Given the description of an element on the screen output the (x, y) to click on. 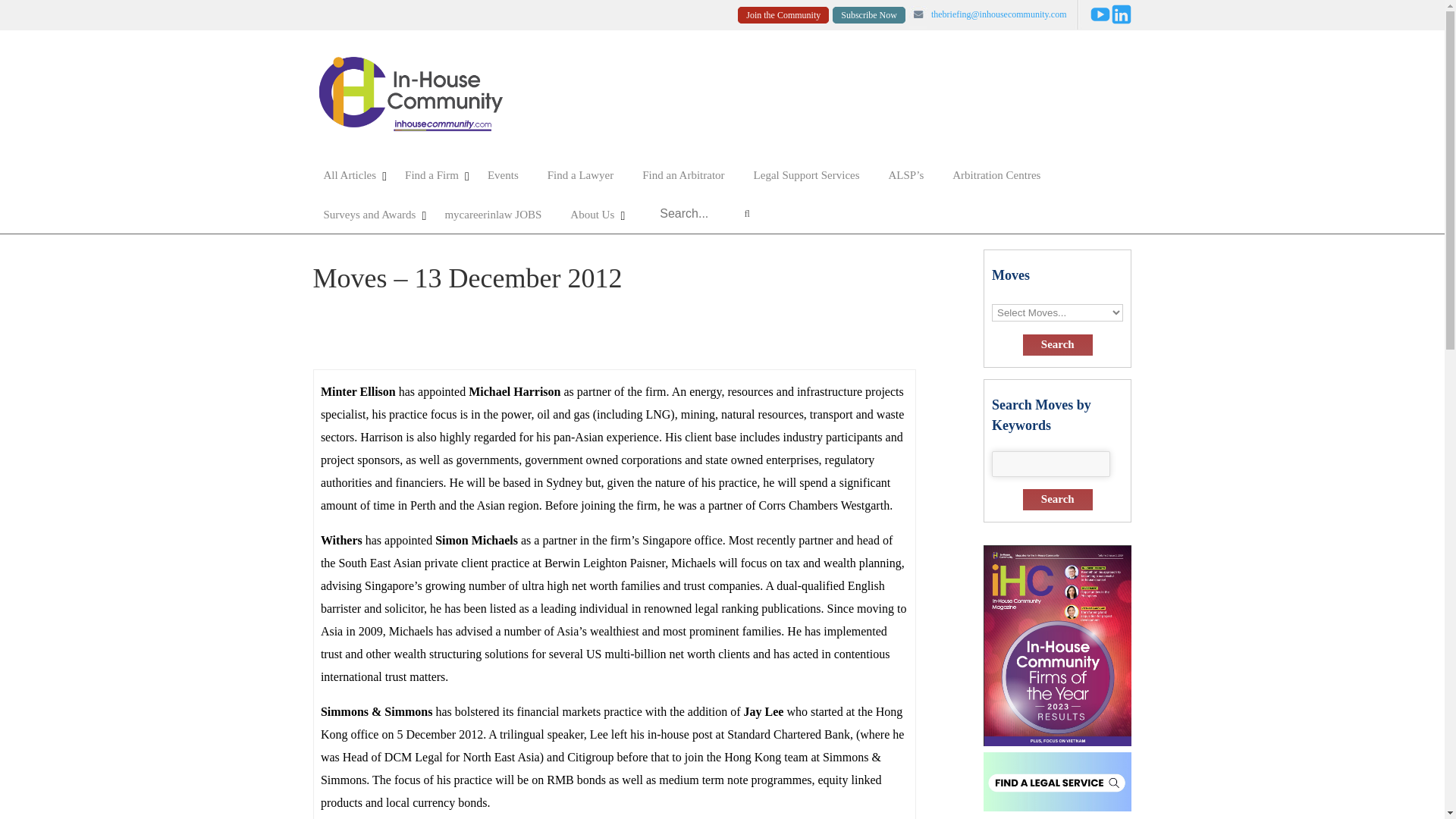
Search (1058, 499)
Subscribe Now (868, 14)
Search (1058, 344)
Join the Community (783, 14)
